Given the description of an element on the screen output the (x, y) to click on. 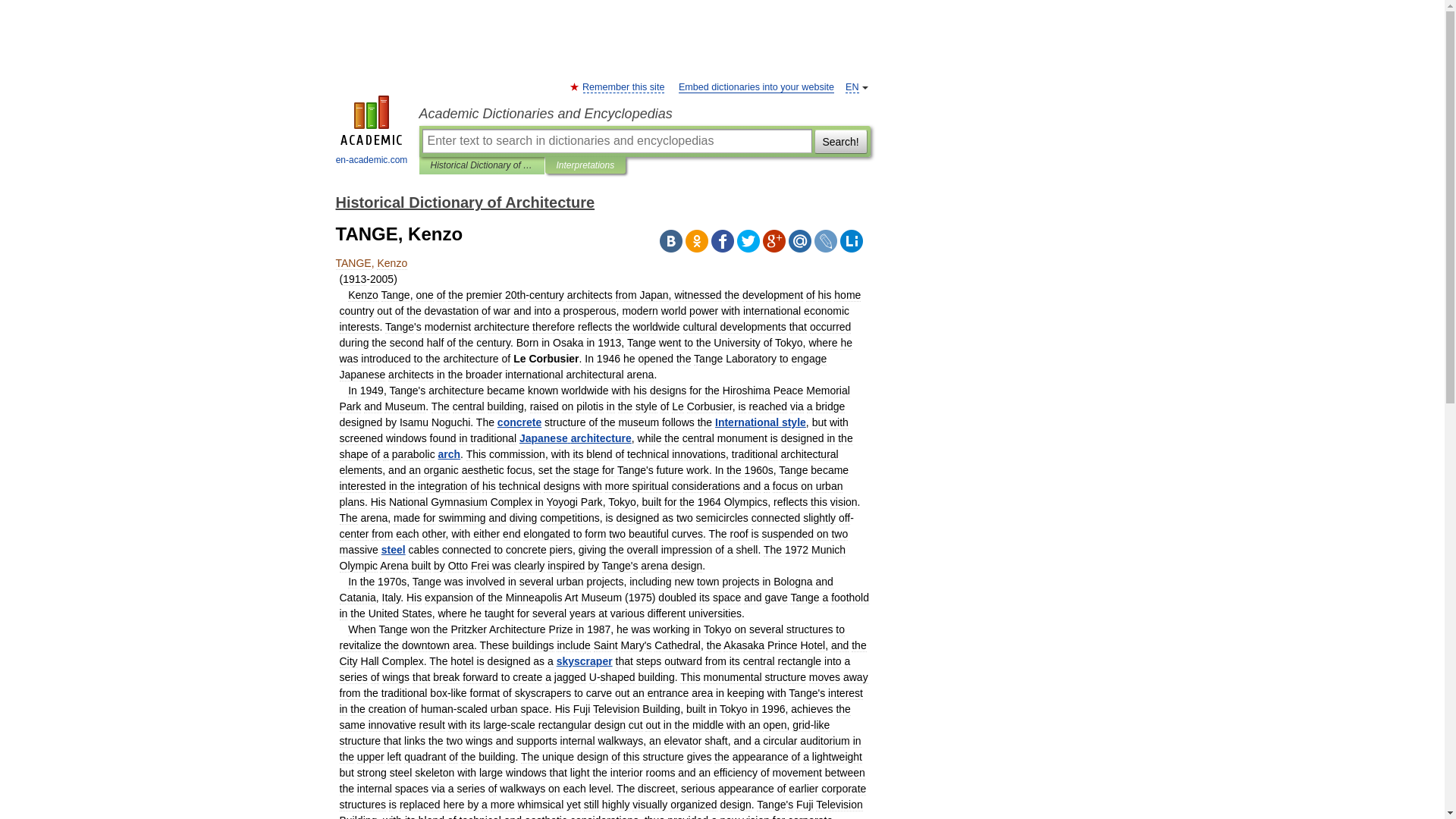
Japanese architecture (575, 438)
skyscraper (584, 661)
Embed dictionaries into your website (756, 87)
steel (393, 549)
concrete (519, 422)
Historical Dictionary of Architecture (481, 165)
Historical Dictionary of Architecture (464, 202)
en-academic.com (371, 131)
International style (760, 422)
Enter text to search in dictionaries and encyclopedias (616, 140)
Academic Dictionaries and Encyclopedias (644, 114)
arch (449, 453)
Remember this site (623, 87)
Search! (840, 140)
Interpretations (585, 165)
